Given the description of an element on the screen output the (x, y) to click on. 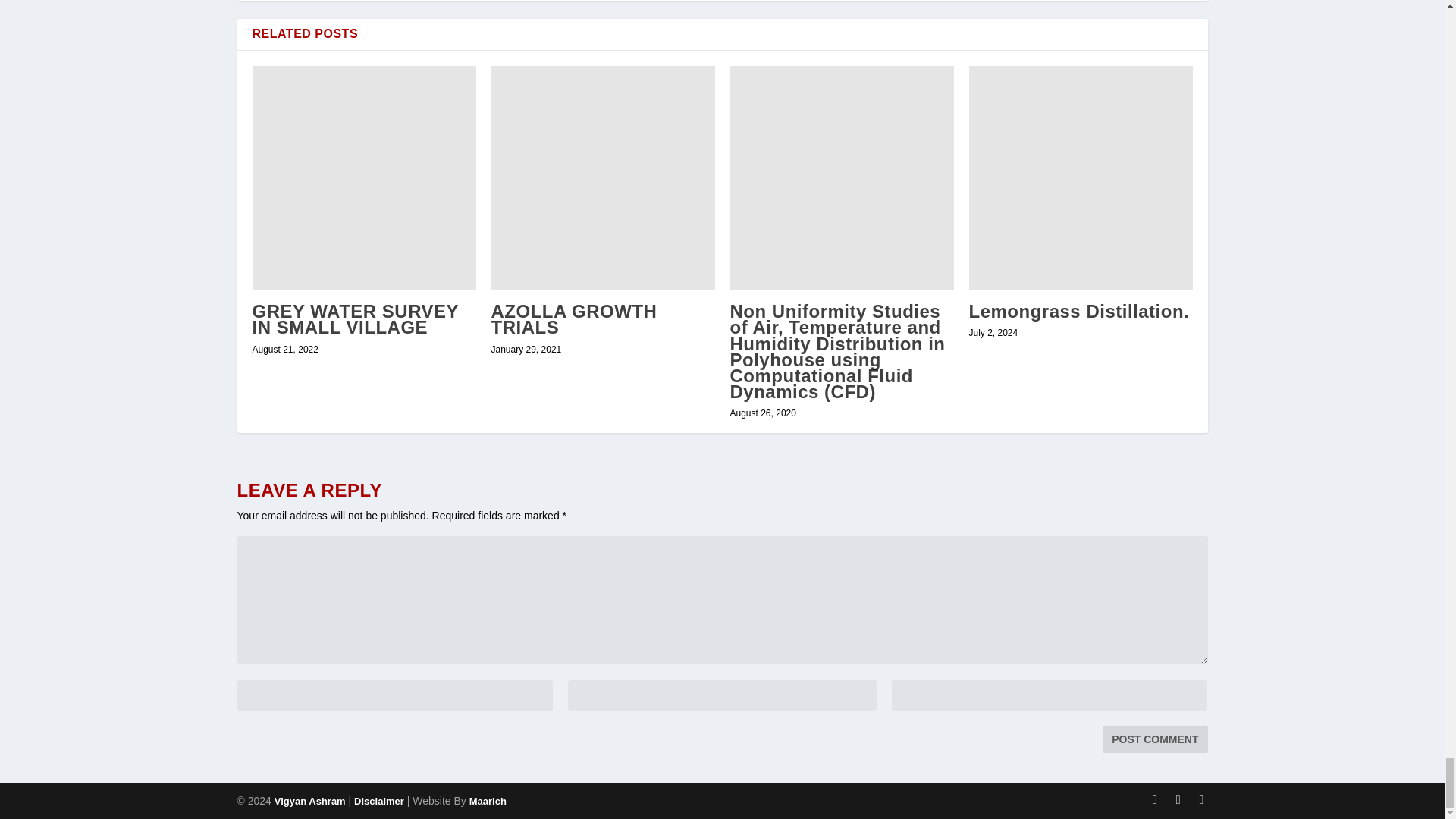
Post Comment (1154, 738)
